Given the description of an element on the screen output the (x, y) to click on. 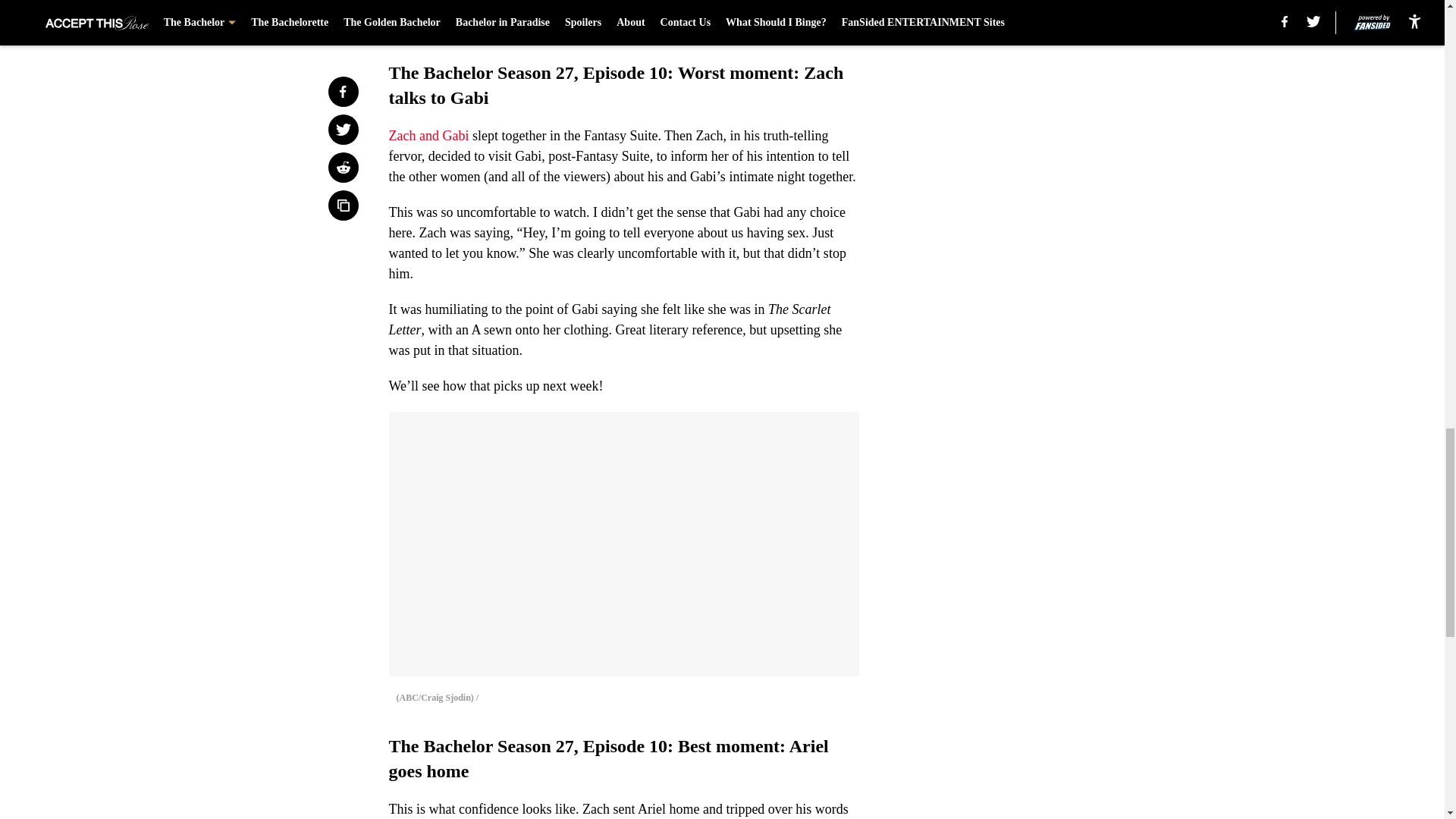
Zach and Gabi (428, 135)
